Given the description of an element on the screen output the (x, y) to click on. 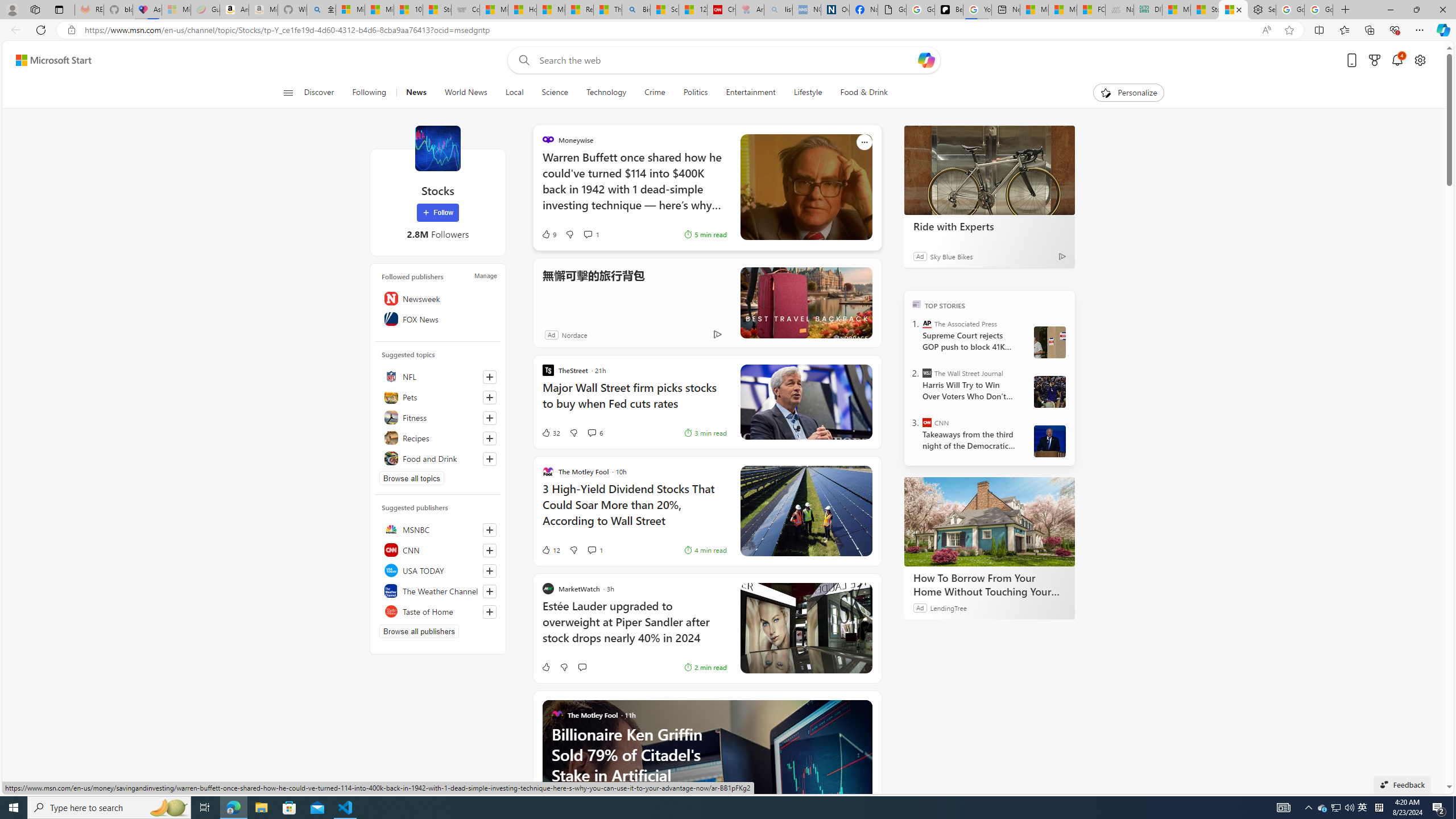
Warren Buffett shares dead-simple investing lesson (805, 187)
Science - MSN (664, 9)
Food and Drink (437, 458)
Stocks - MSN (1233, 9)
12 Like (549, 549)
News (415, 92)
Follow this topic (489, 459)
Browse all publishers (419, 631)
Discover (319, 92)
